Given the description of an element on the screen output the (x, y) to click on. 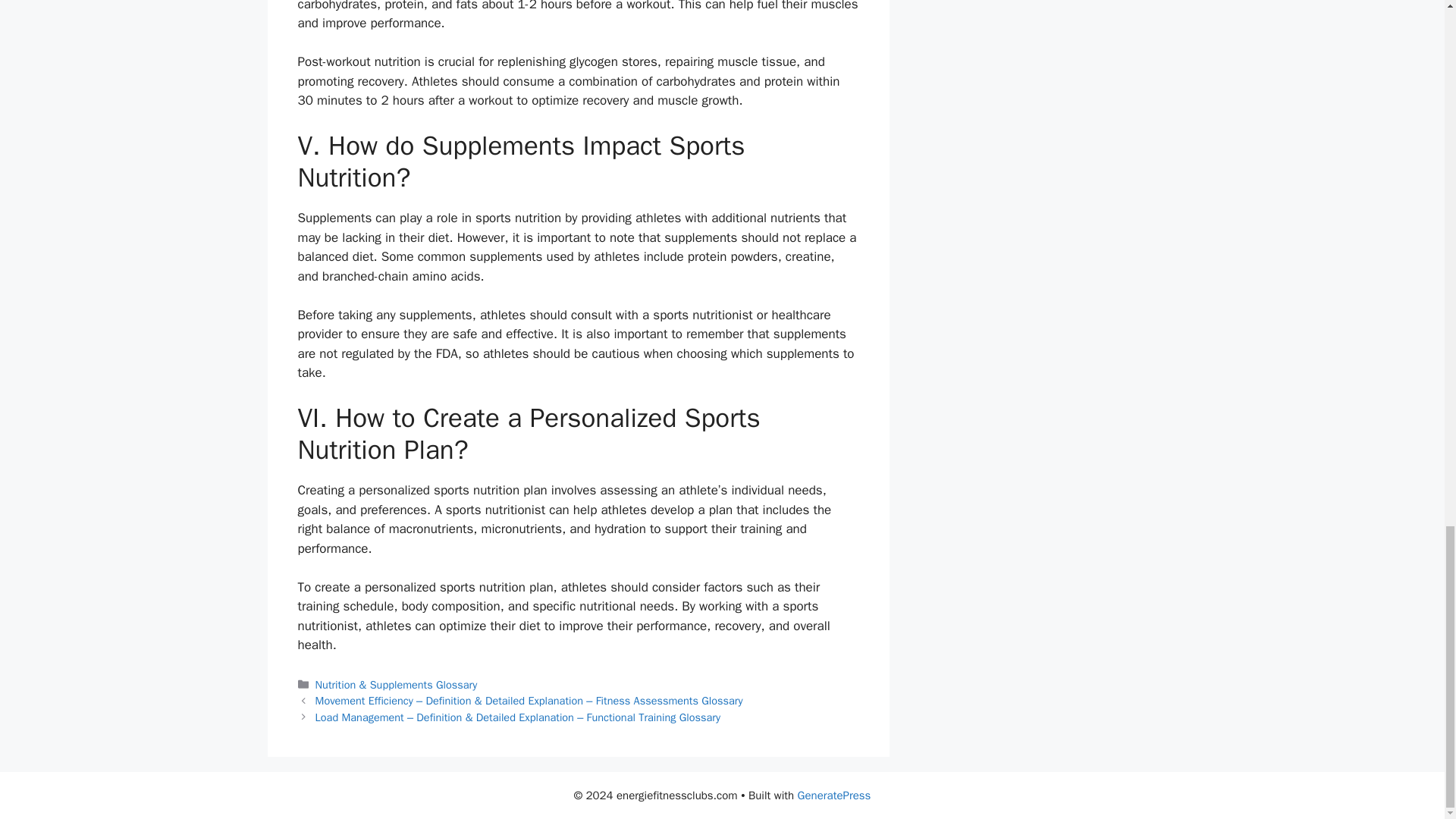
GeneratePress (833, 795)
